Given the description of an element on the screen output the (x, y) to click on. 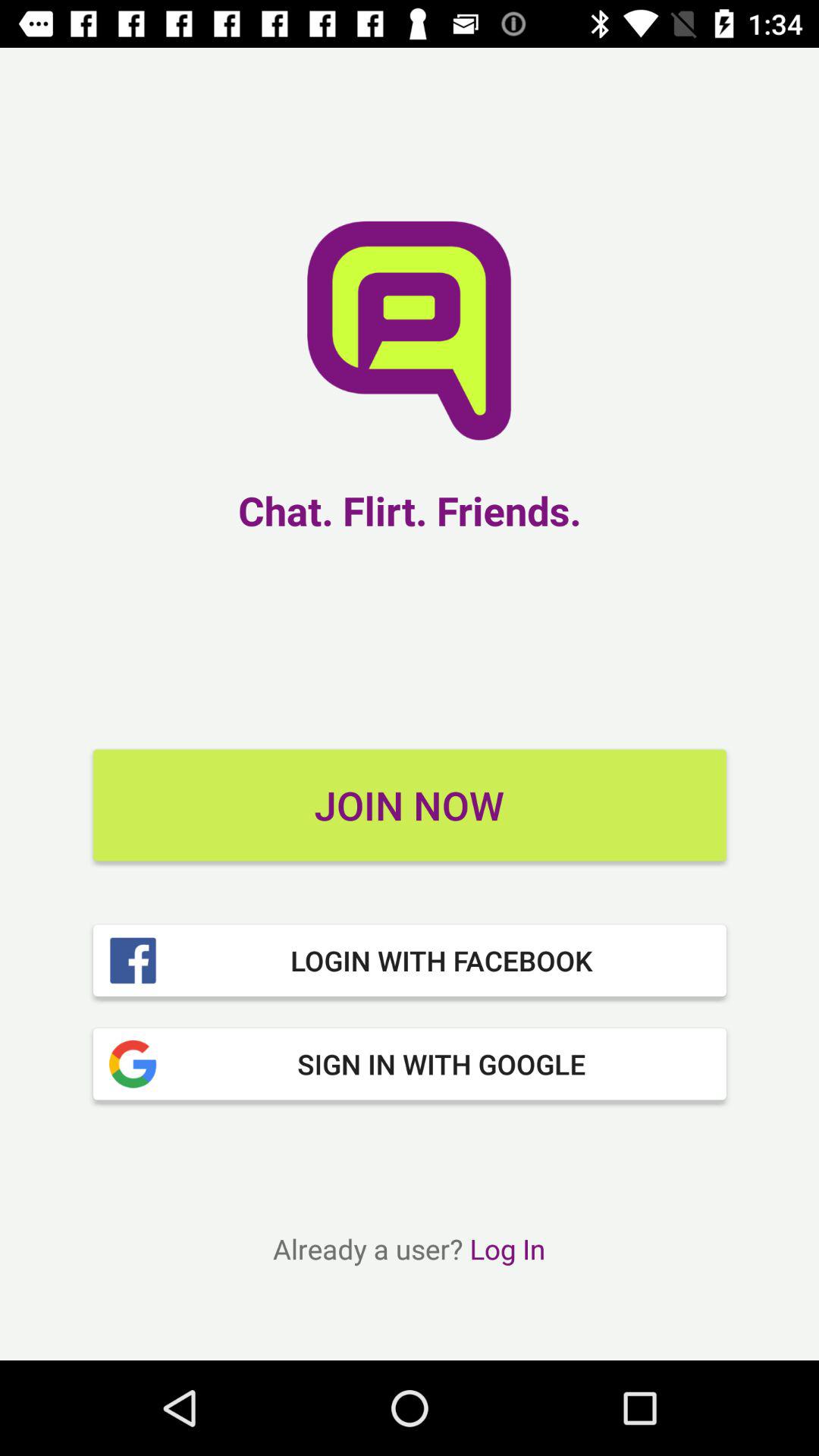
turn off the already a user (409, 1248)
